Given the description of an element on the screen output the (x, y) to click on. 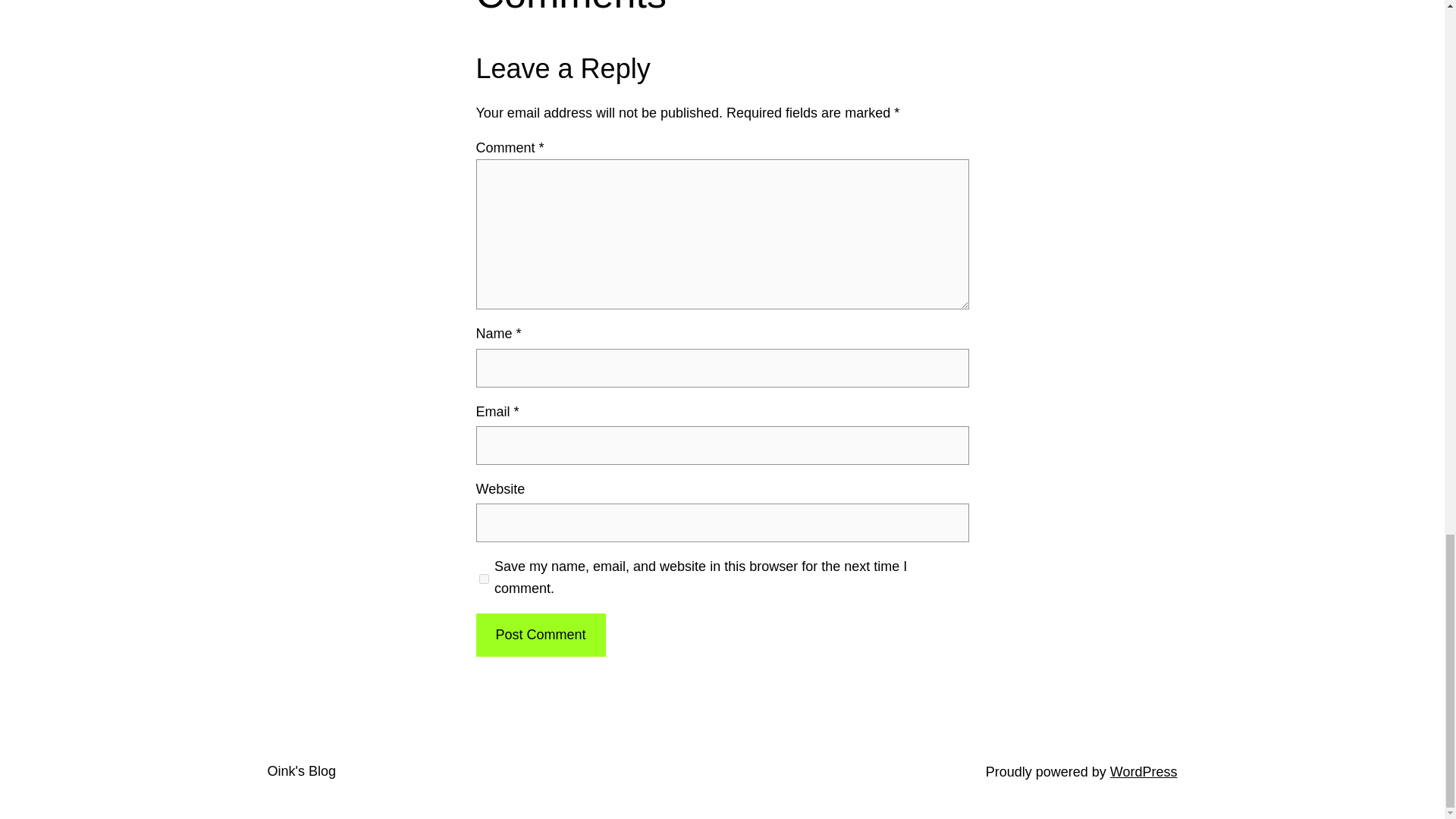
WordPress (1143, 771)
Oink's Blog (300, 770)
Post Comment (540, 634)
Post Comment (540, 634)
